Given the description of an element on the screen output the (x, y) to click on. 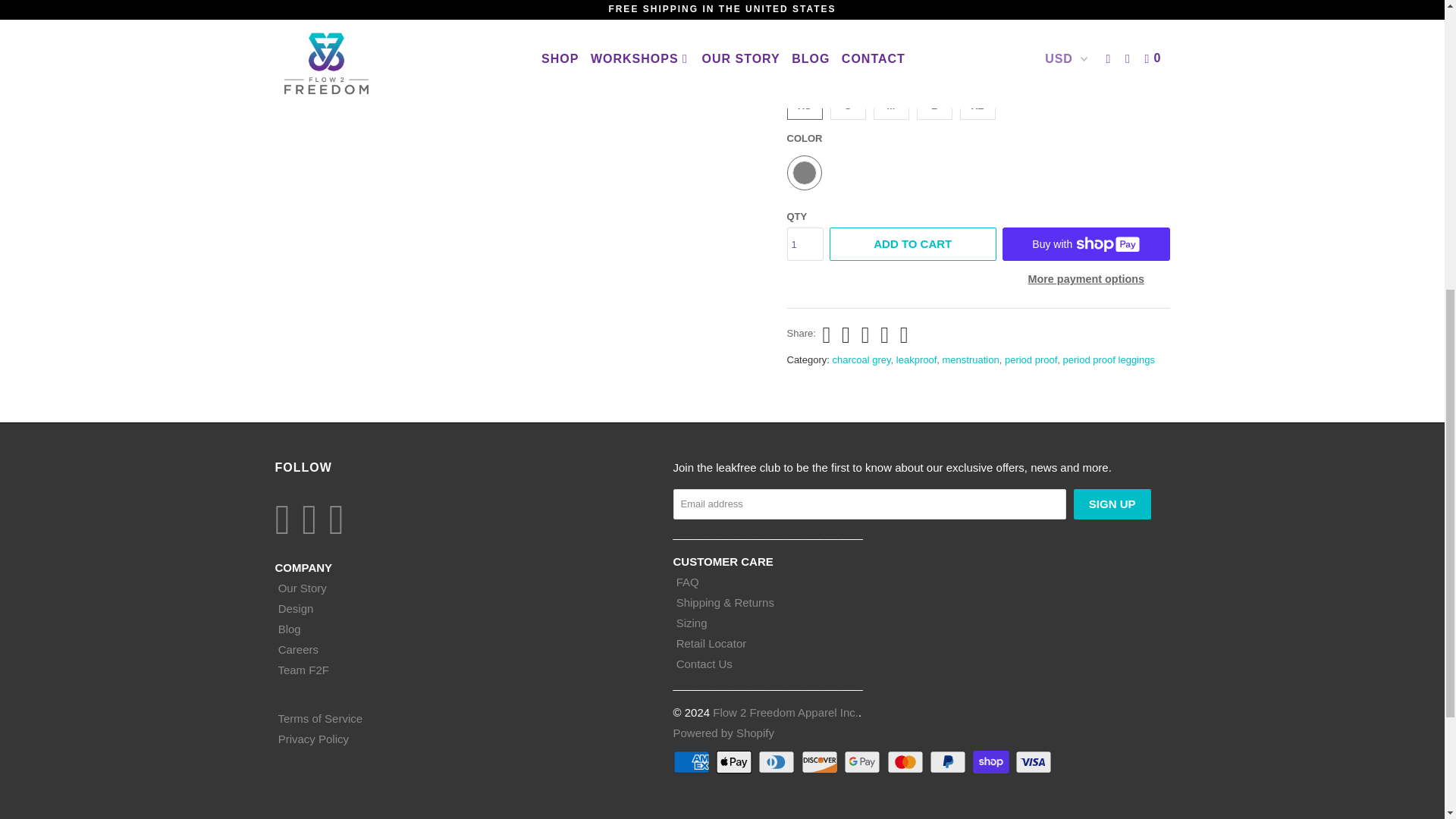
Visa (1034, 762)
Discover (821, 762)
American Express (692, 762)
Apple Pay (735, 762)
Shop Pay (991, 762)
Mastercard (906, 762)
Diners Club (777, 762)
Google Pay (863, 762)
PayPal (949, 762)
1 (805, 244)
Sign Up (1112, 503)
